Given the description of an element on the screen output the (x, y) to click on. 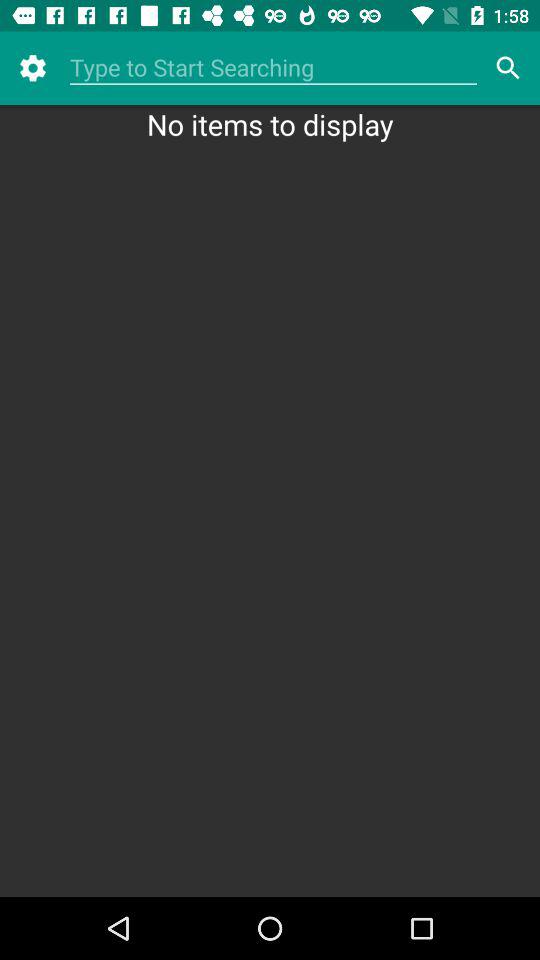
launch the item above no items to icon (32, 67)
